Given the description of an element on the screen output the (x, y) to click on. 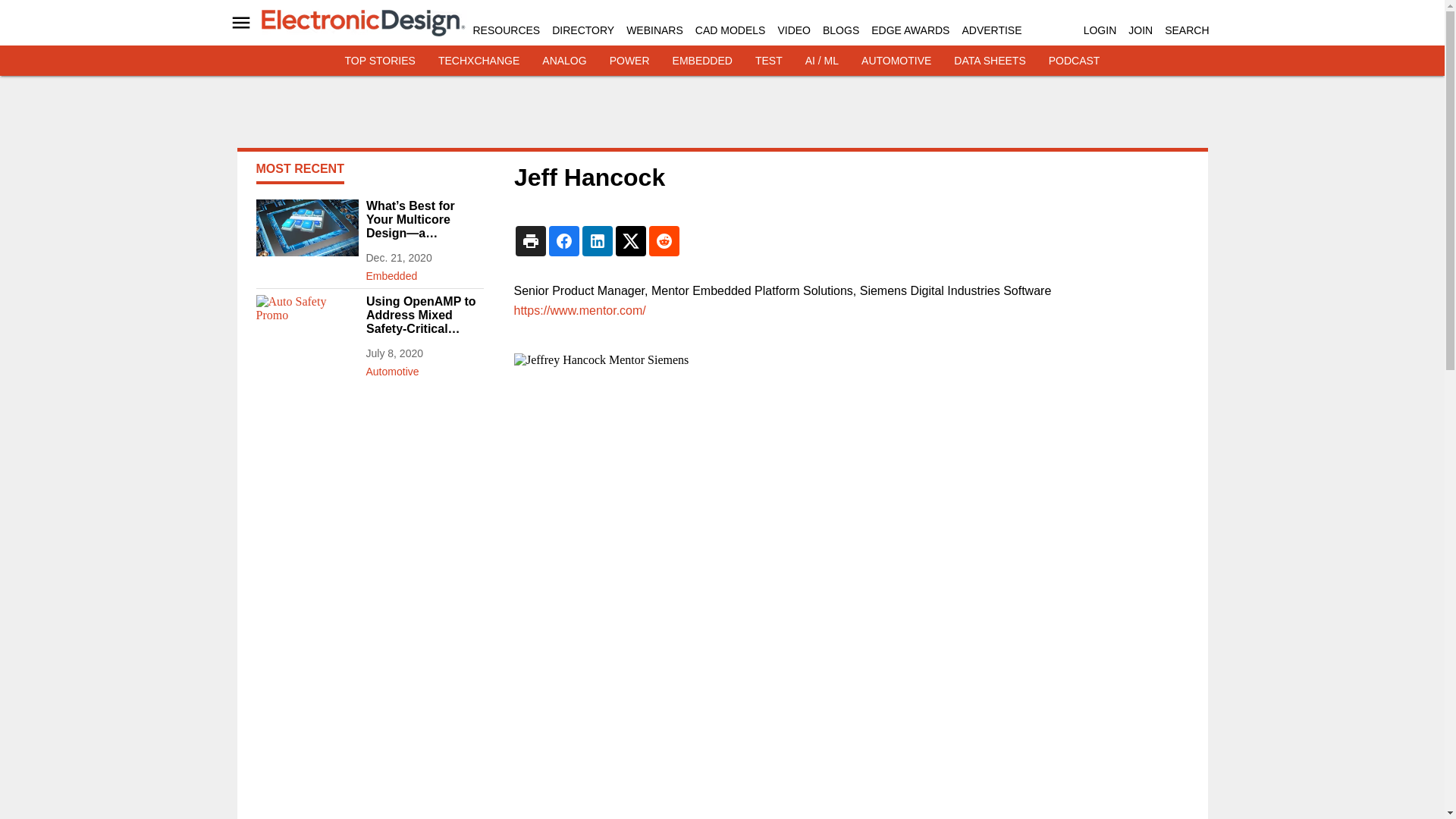
WEBINARS (654, 30)
TOP STORIES (379, 60)
ANALOG (563, 60)
LOGIN (1099, 30)
VIDEO (793, 30)
DATA SHEETS (989, 60)
POWER (629, 60)
TEST (769, 60)
PODCAST (1074, 60)
Auto Safety Promo (307, 323)
